Given the description of an element on the screen output the (x, y) to click on. 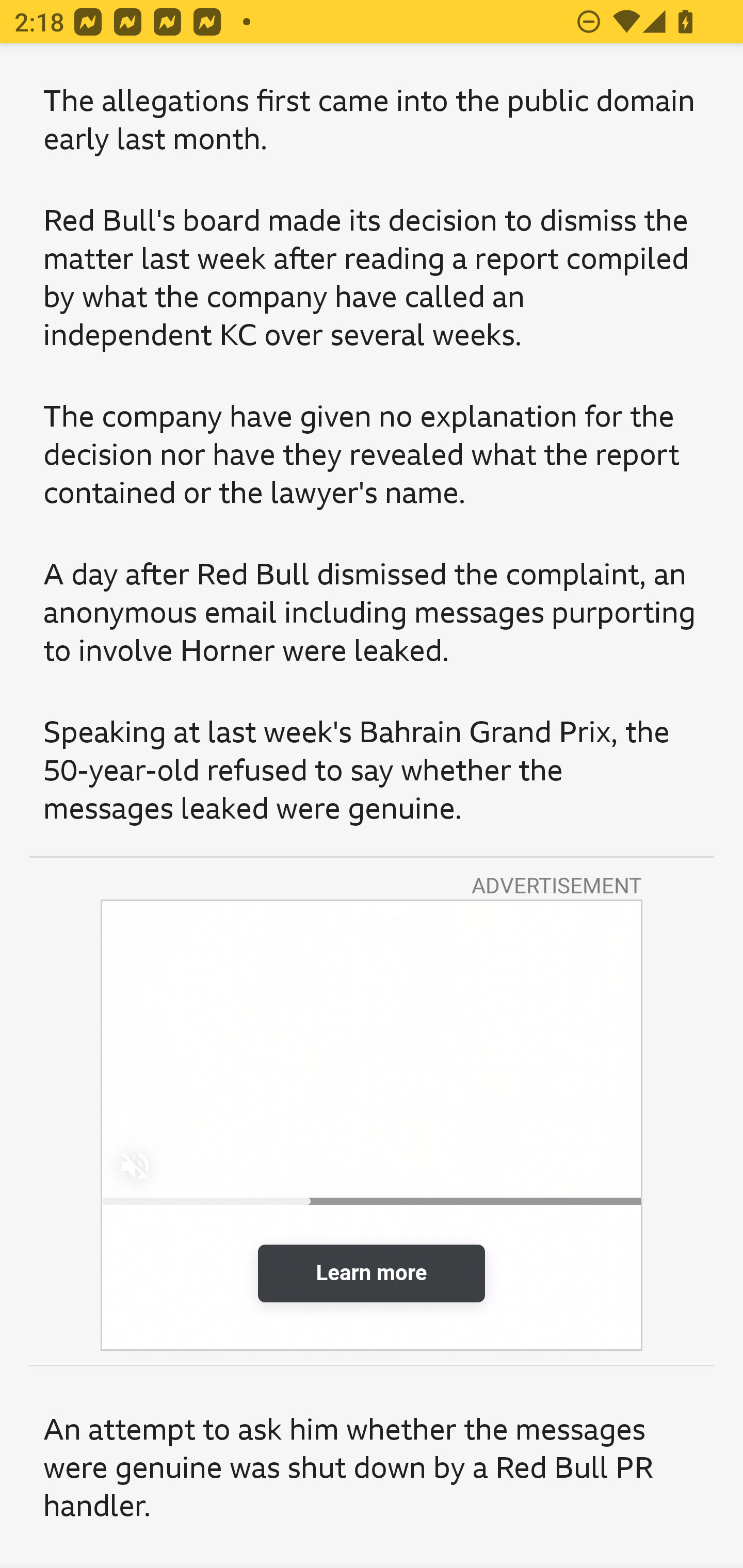
Pause video Unmute video Replay Learn more (371, 1125)
Pause video Unmute video (371, 1052)
Unmute video (134, 1165)
Learn more (371, 1272)
